Given the description of an element on the screen output the (x, y) to click on. 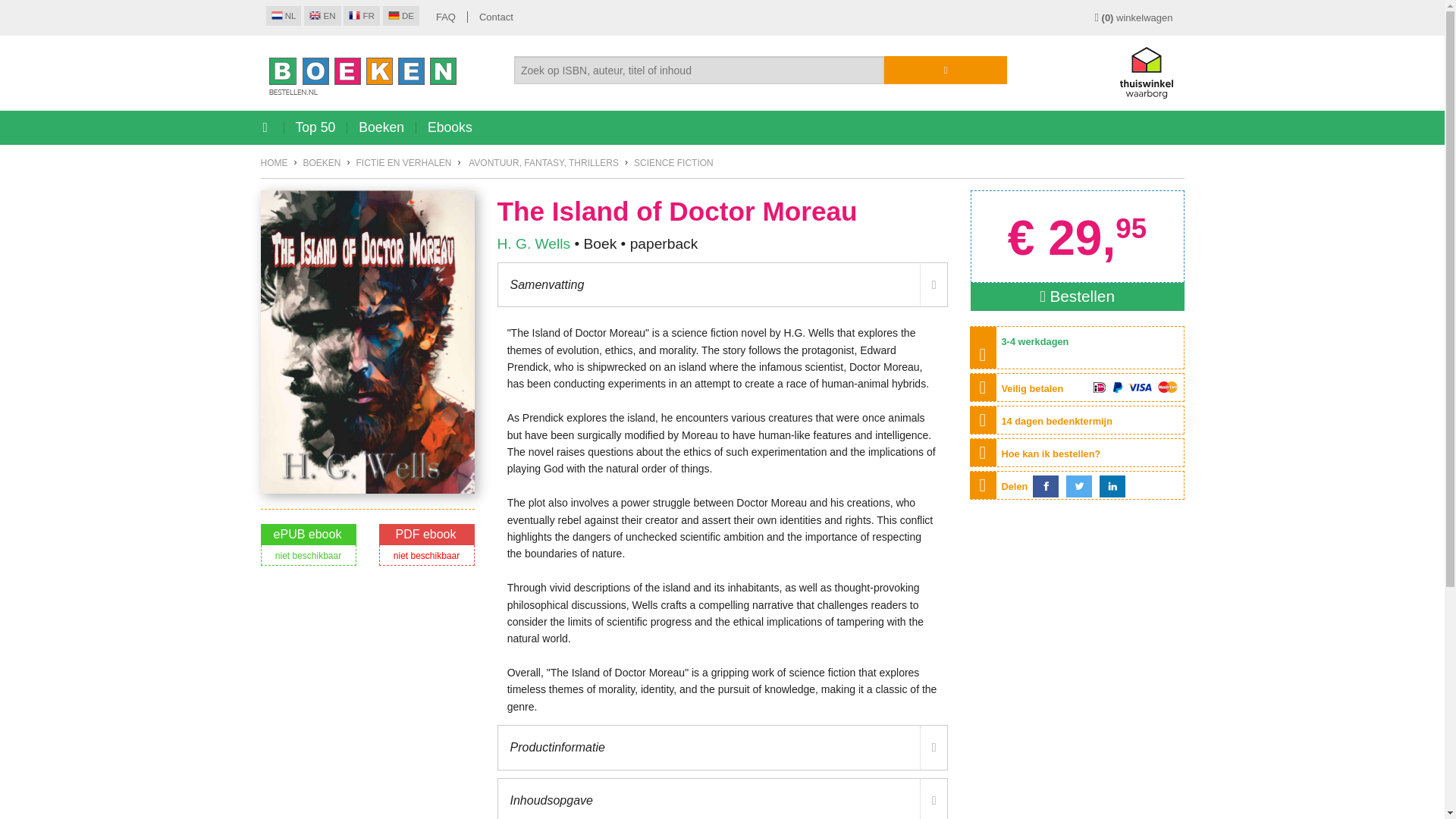
SCIENCE FICTION (673, 163)
meer boeken van H. G. Wells (533, 243)
FICTIE EN VERHALEN (403, 163)
Boeken (380, 127)
Avontuur, fantasy, thrillers (543, 163)
 DE (400, 15)
 FR (361, 15)
FAQ (446, 17)
Home (376, 65)
Home (274, 163)
Deutsch (400, 15)
BOEKEN (321, 163)
Productinformatie (722, 747)
Contact (495, 17)
Samenvatting (722, 284)
